Given the description of an element on the screen output the (x, y) to click on. 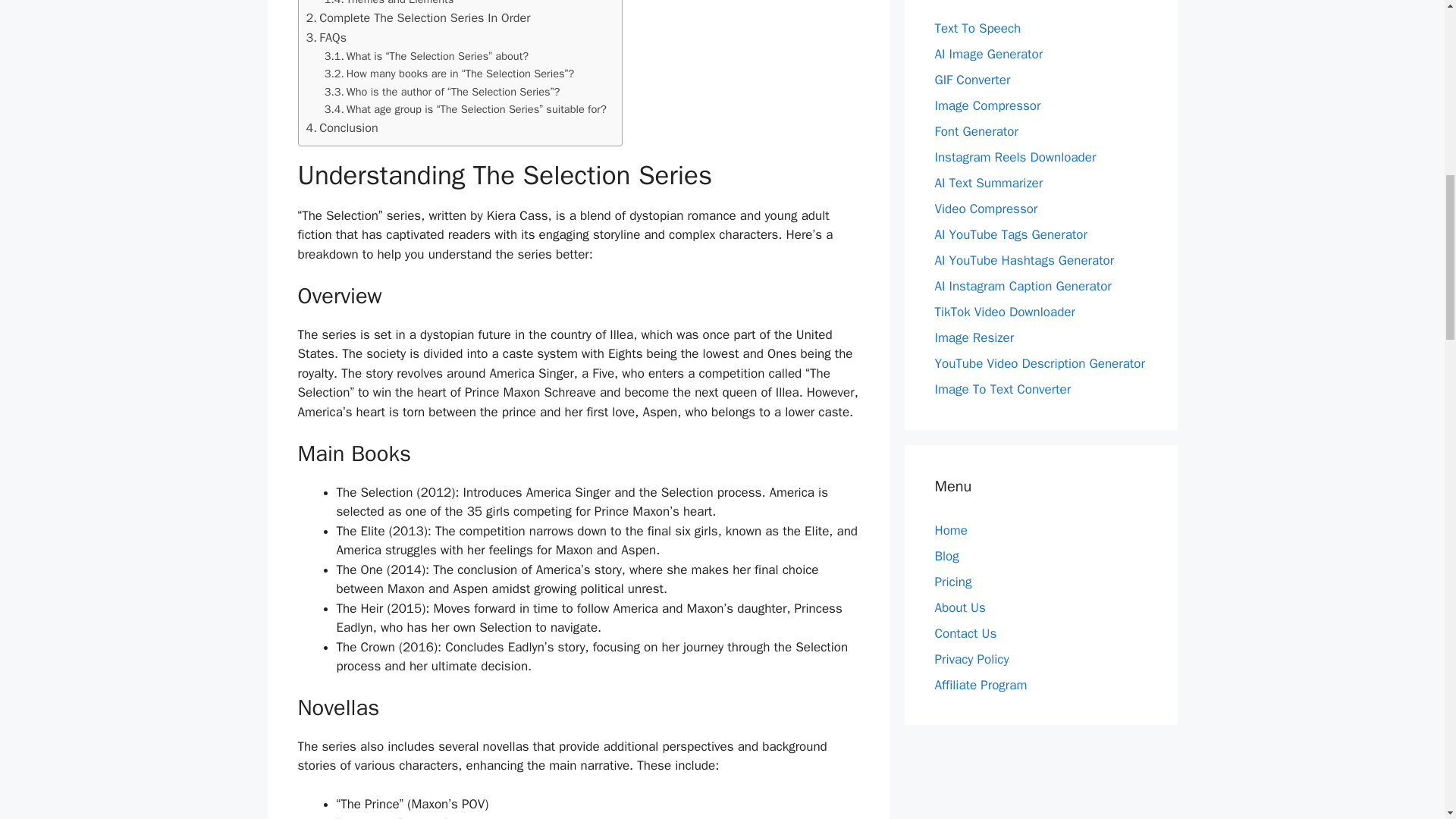
Conclusion (341, 127)
Themes and Elements (389, 4)
Complete The Selection Series In Order (418, 17)
Complete The Selection Series In Order (418, 17)
Themes and Elements (389, 4)
FAQs (326, 37)
FAQs (326, 37)
